Given the description of an element on the screen output the (x, y) to click on. 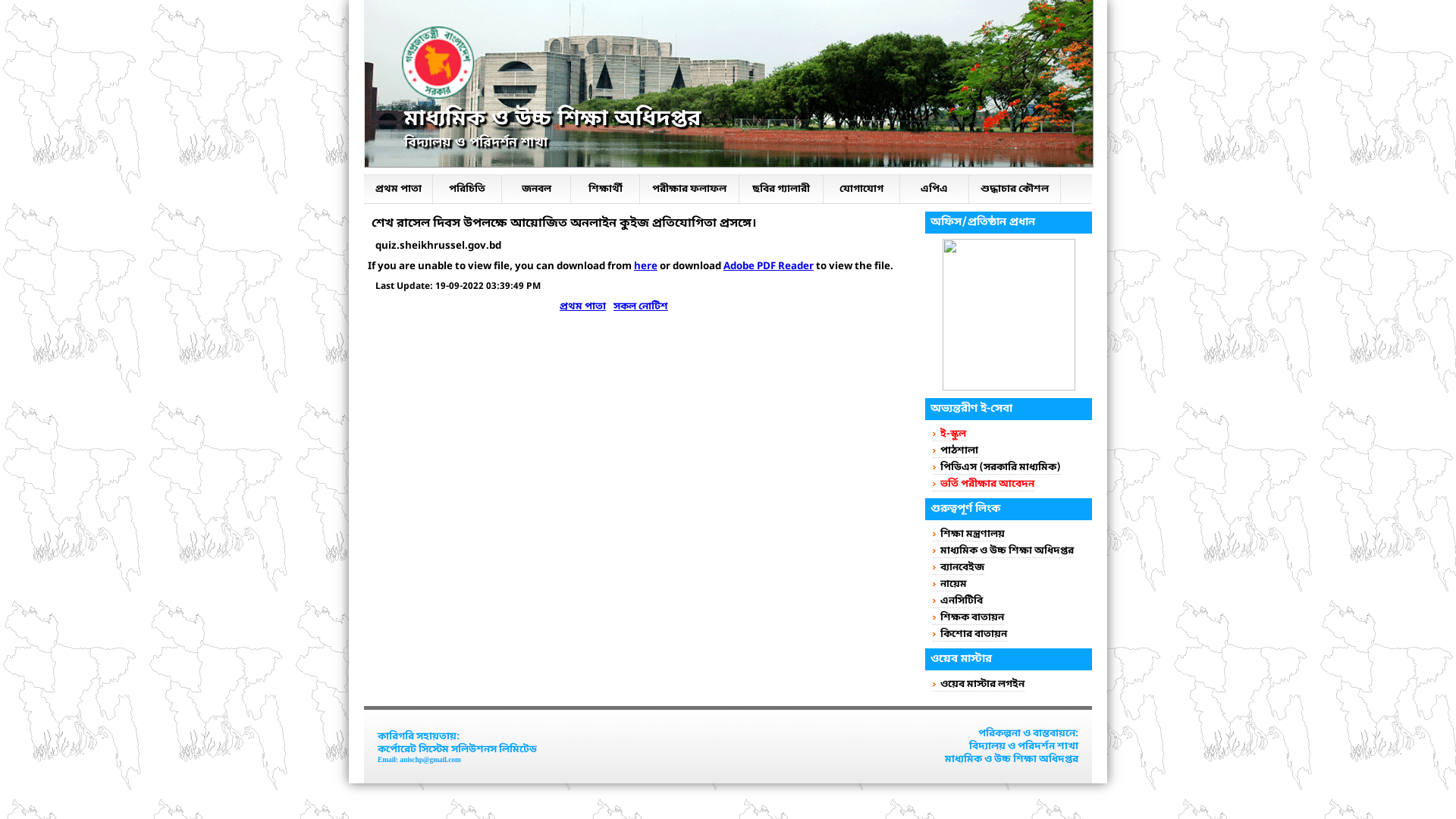
here Element type: text (645, 266)
Adobe PDF Reader Element type: text (768, 266)
